Given the description of an element on the screen output the (x, y) to click on. 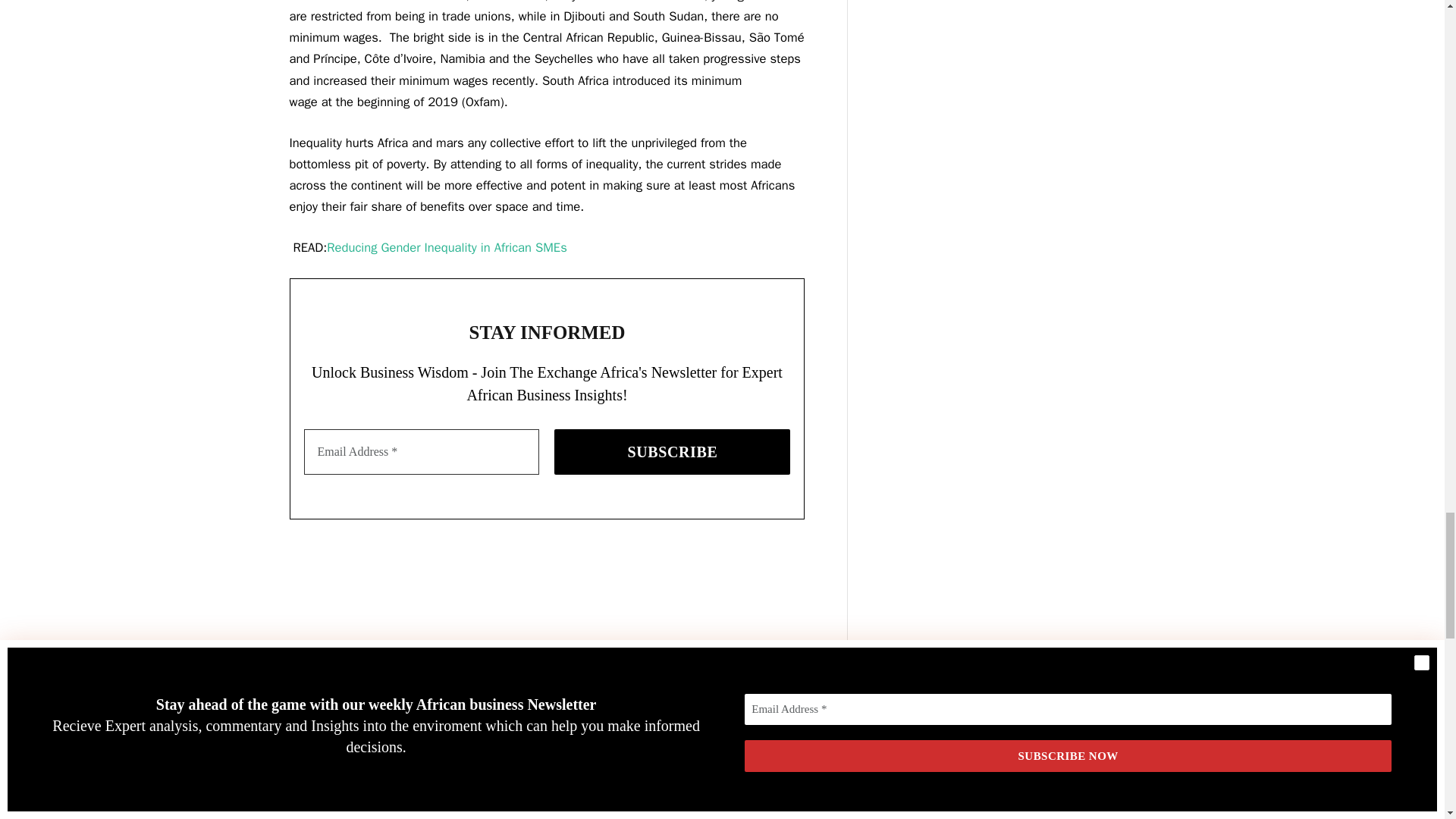
SUBSCRIBE (672, 452)
